Given the description of an element on the screen output the (x, y) to click on. 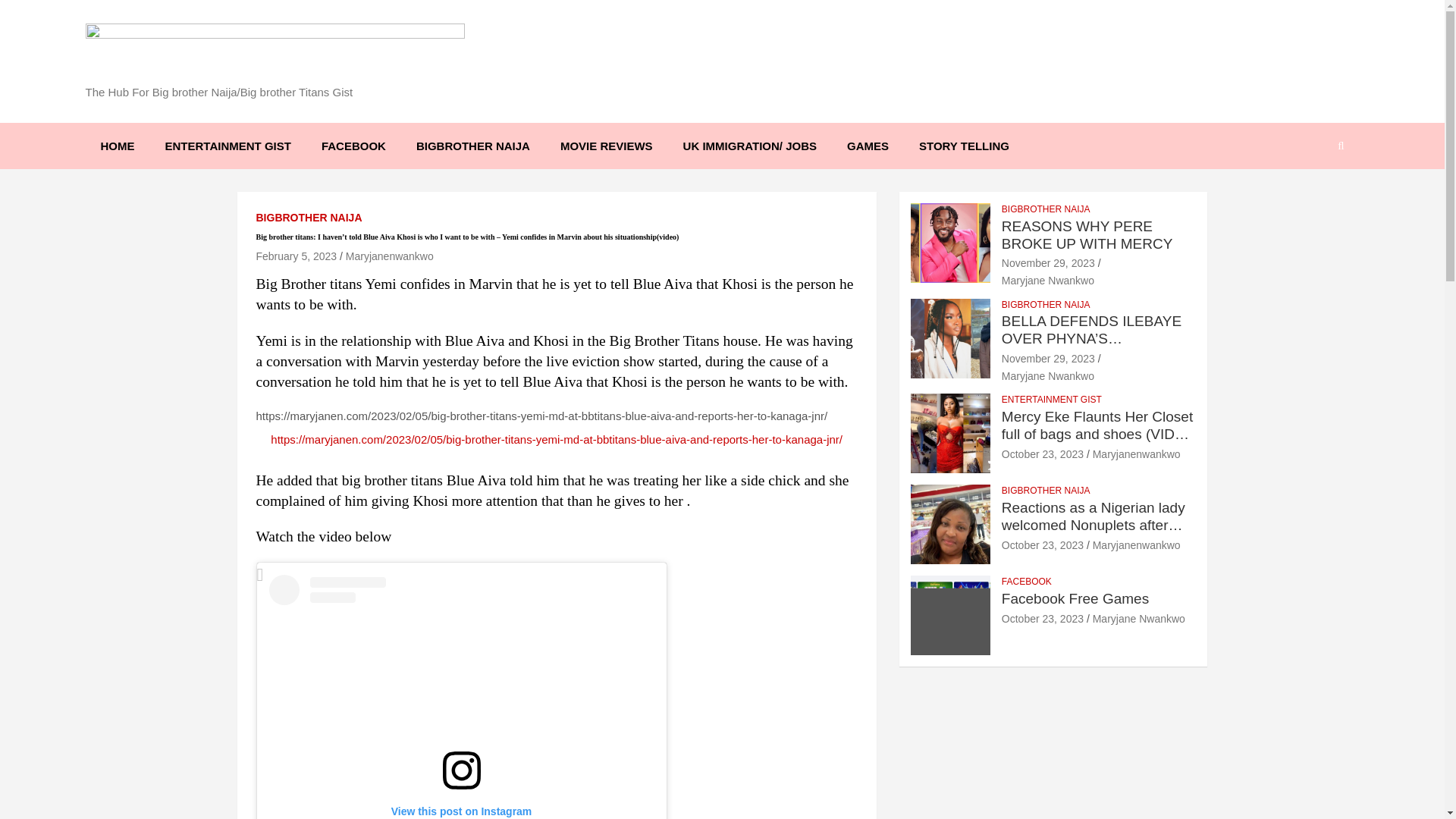
BIGBROTHER NAIJA (472, 145)
View this post on Instagram (460, 696)
BIGBROTHER NAIJA (1045, 209)
GAMES (867, 145)
Maryjane Nwankwo (1047, 280)
MOVIE REVIEWS (606, 145)
REASONS WHY PERE BROKE UP WITH MERCY (1047, 263)
FACEBOOK (353, 145)
November 29, 2023 (1047, 263)
